Given the description of an element on the screen output the (x, y) to click on. 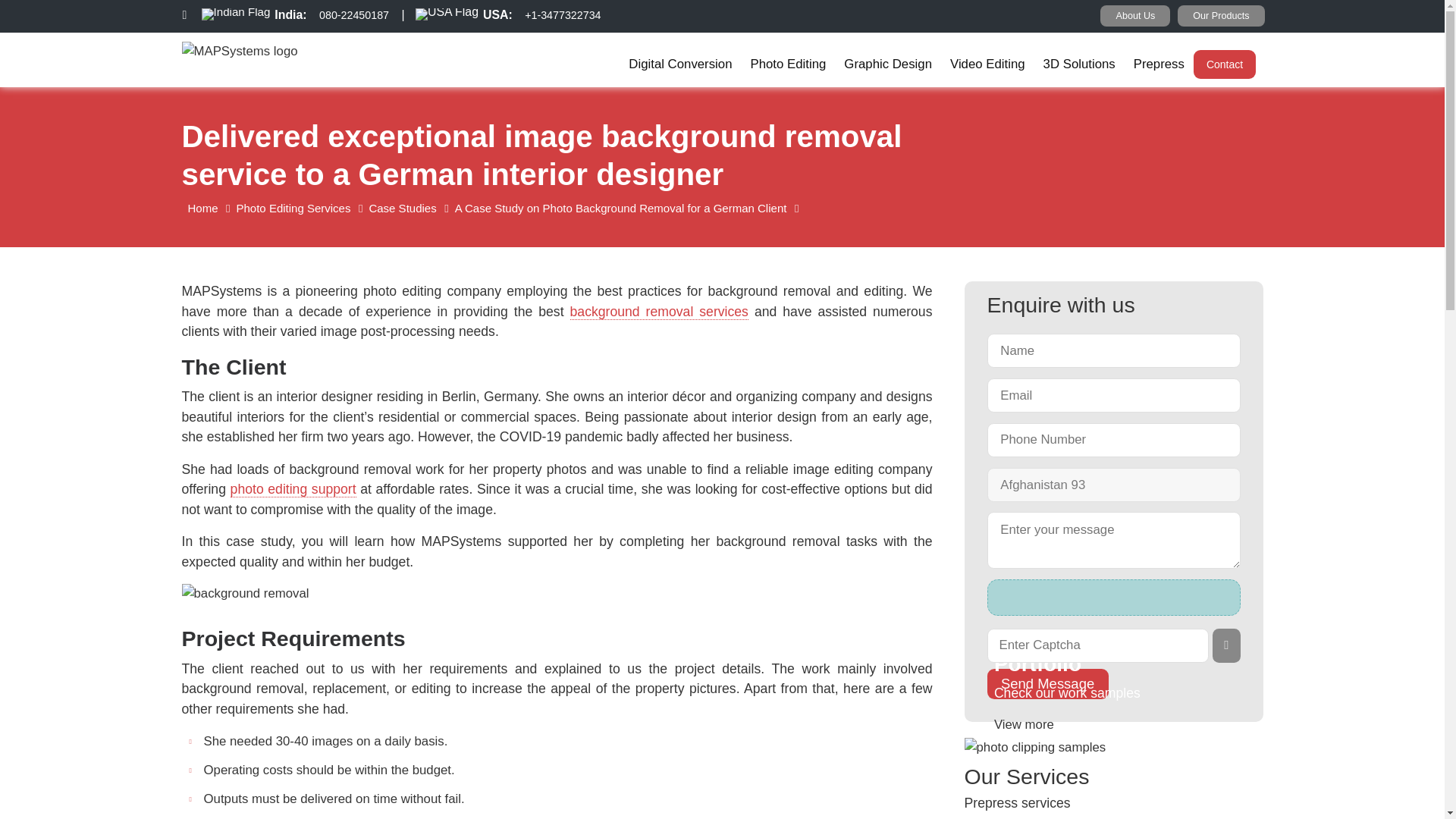
Send Message (1047, 684)
080-22450187 (353, 20)
About Us (1135, 15)
Our Products (1220, 15)
Photo Editing (788, 63)
Digital Conversion (680, 63)
